Given the description of an element on the screen output the (x, y) to click on. 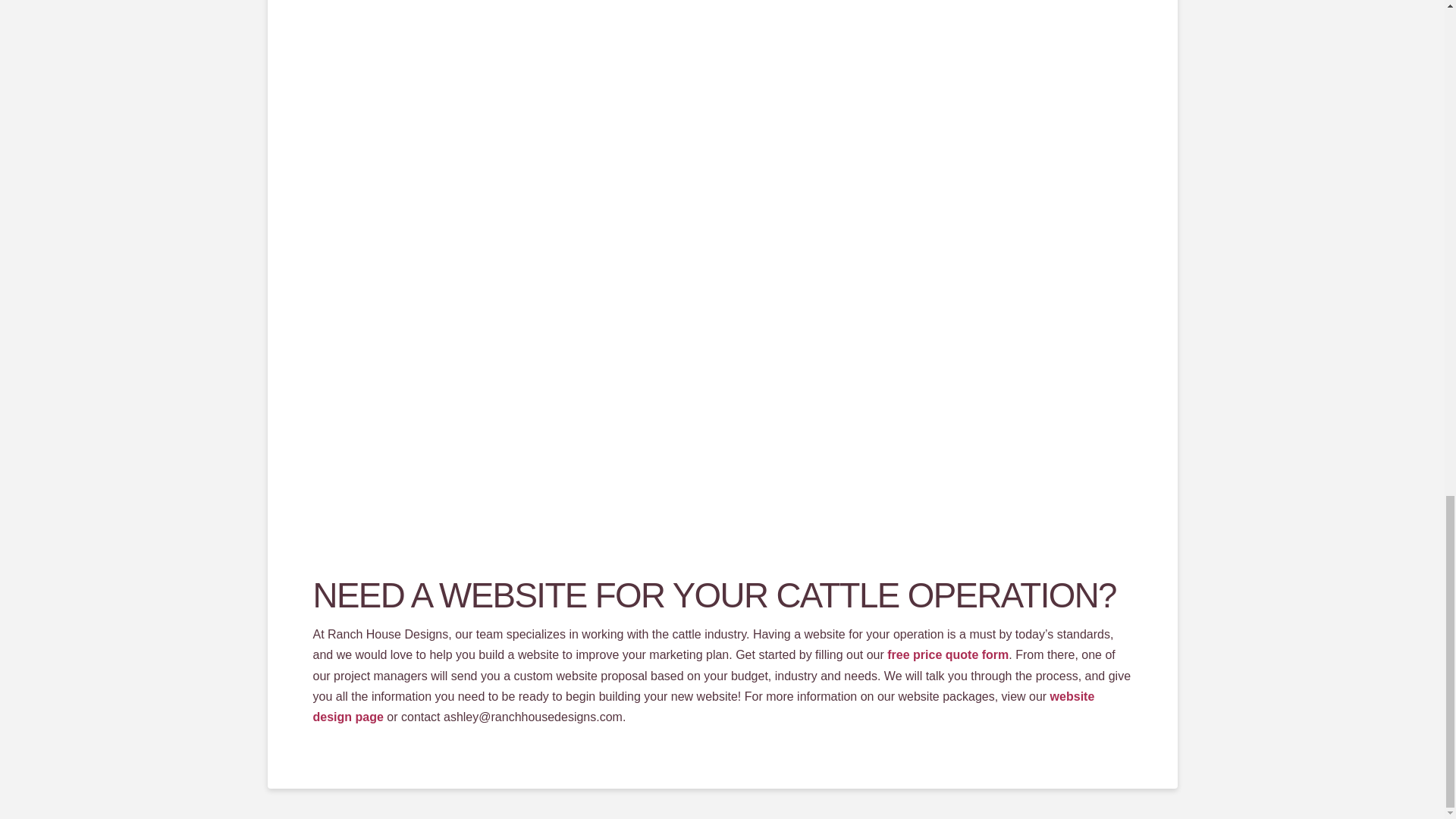
free price quote form (947, 654)
website design page (703, 706)
